Given the description of an element on the screen output the (x, y) to click on. 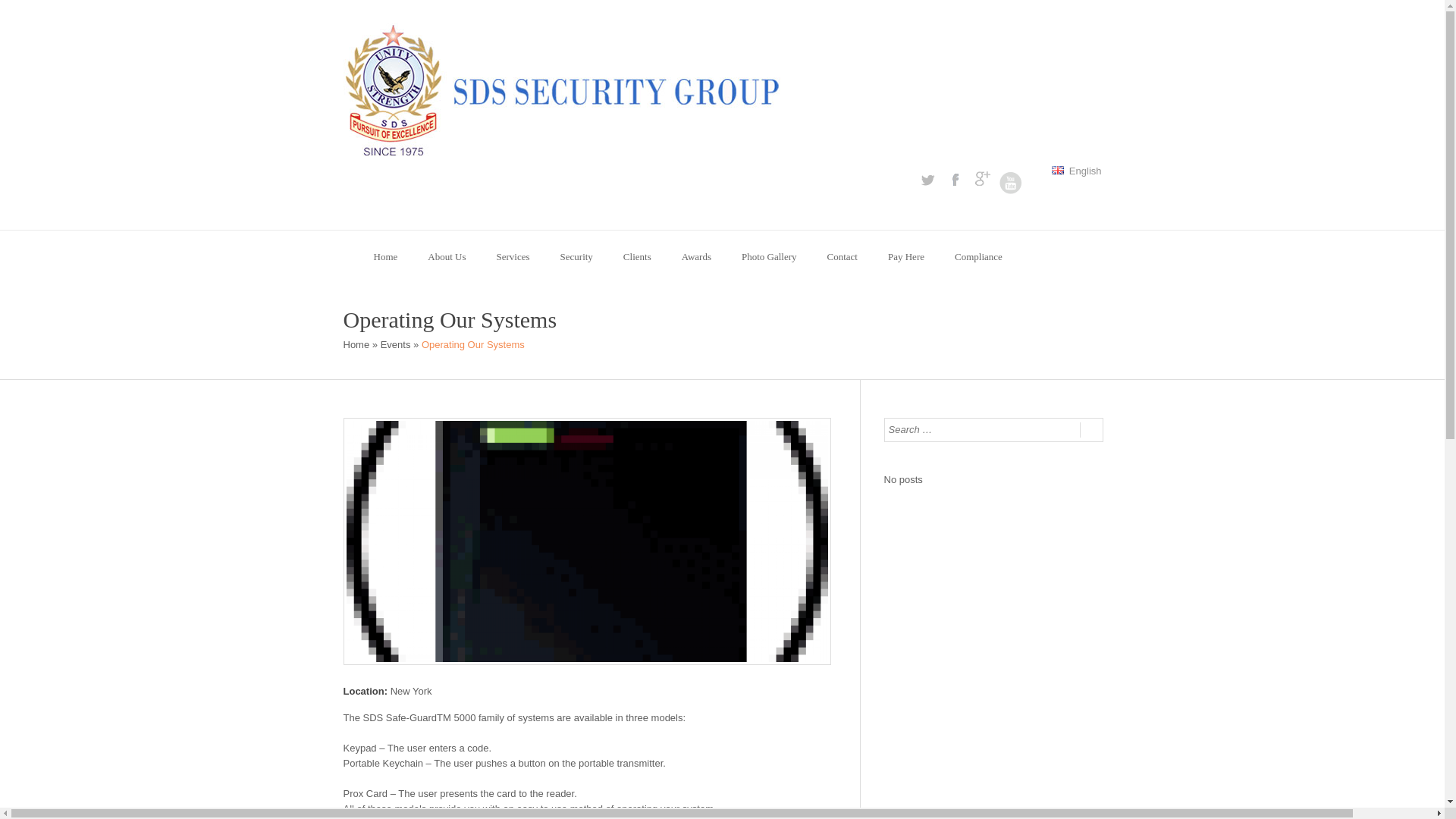
Events (395, 344)
Home (385, 256)
Search (1091, 429)
Search (1091, 429)
English (1057, 170)
SDS SECURITY GROUP (355, 344)
Search for: (981, 429)
Contact (842, 256)
Photo Gallery (769, 256)
Search (1091, 429)
Services (512, 256)
English (1075, 170)
Awards (696, 256)
Home (355, 344)
Compliance (978, 256)
